Given the description of an element on the screen output the (x, y) to click on. 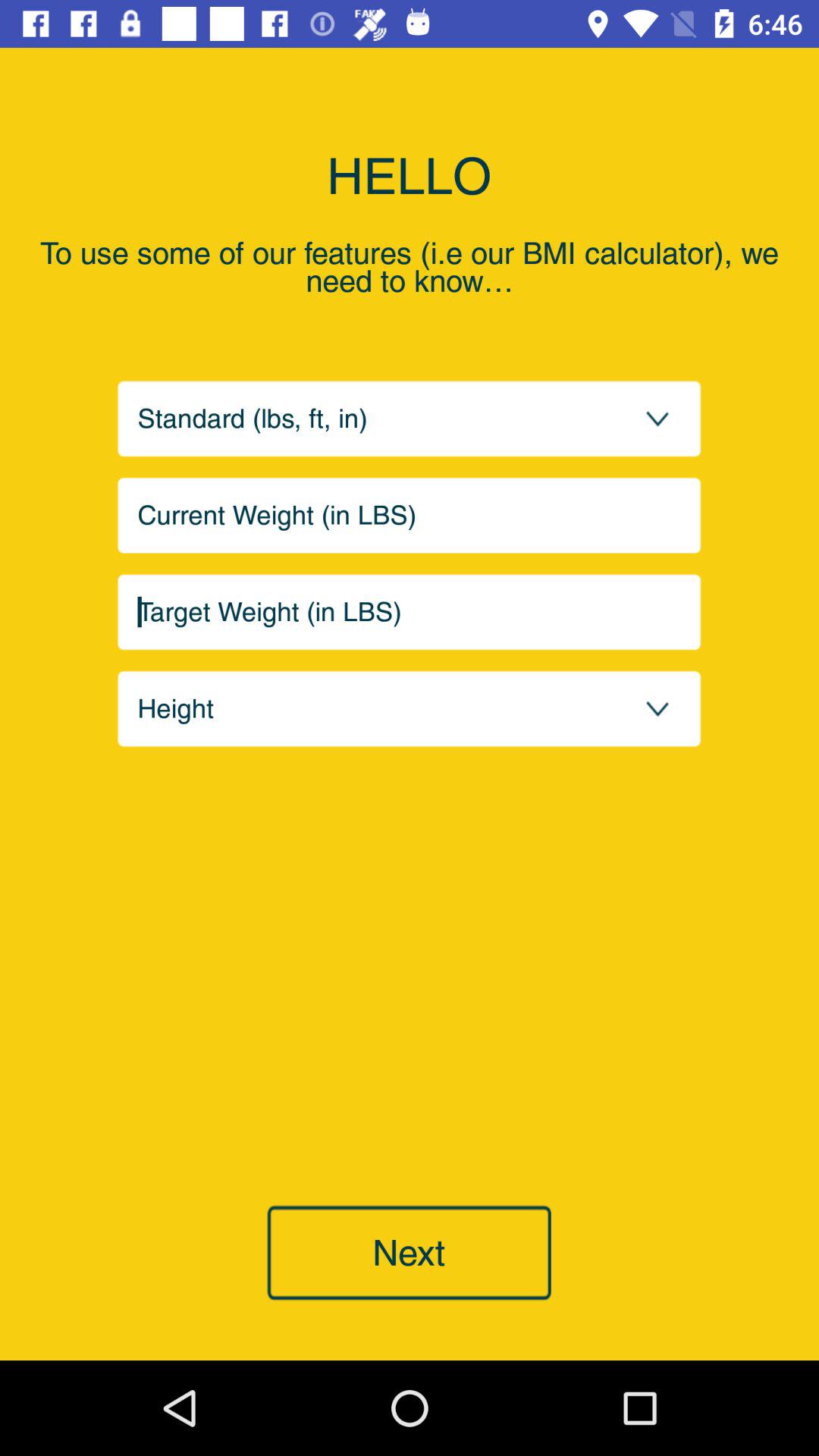
enter target weight in lbs (409, 611)
